Given the description of an element on the screen output the (x, y) to click on. 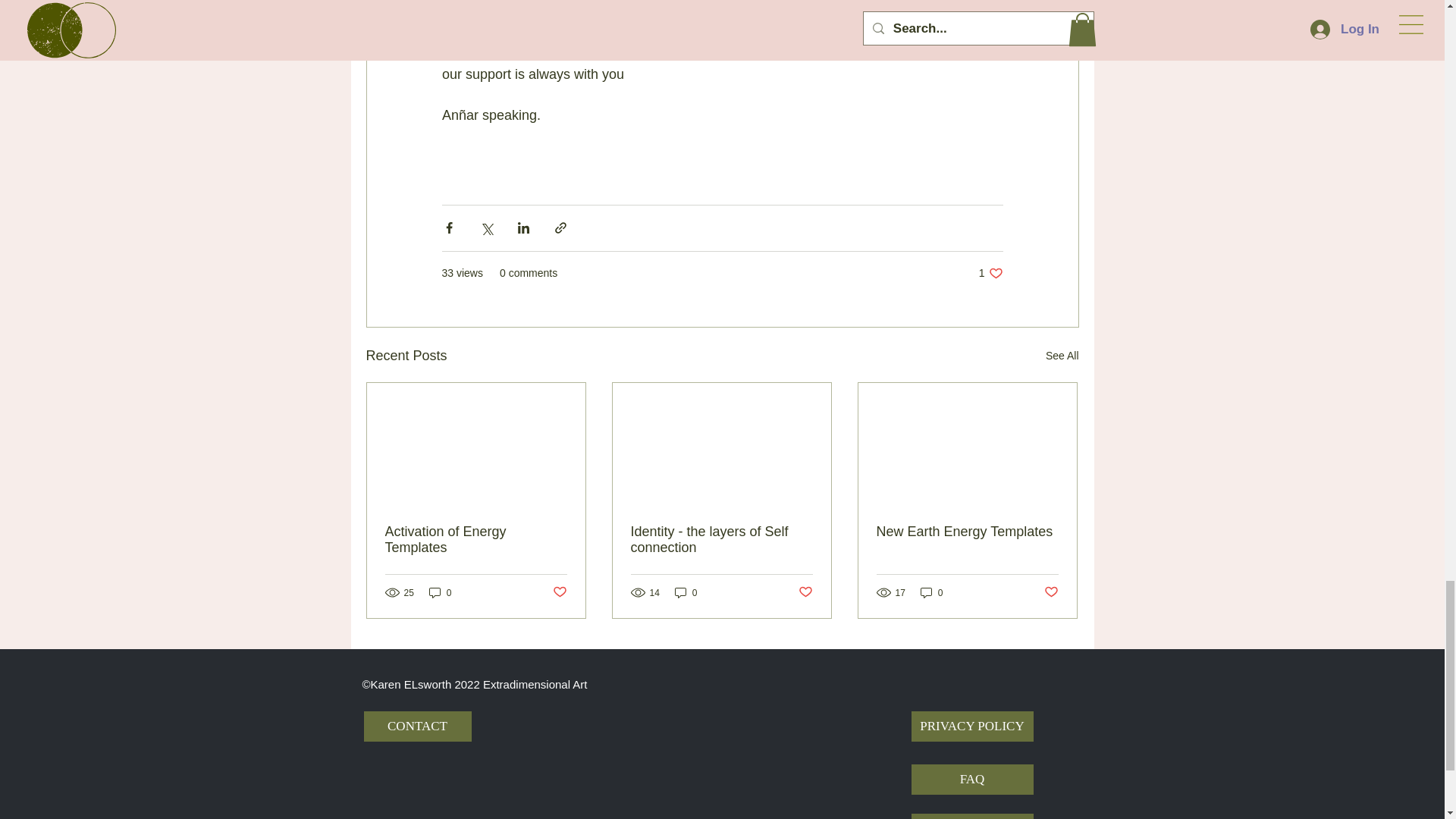
New Earth Energy Templates (967, 531)
FAQ (972, 779)
Identity - the layers of Self connection (721, 540)
See All (1061, 355)
Post not marked as liked (1050, 592)
0 (440, 592)
Activation of Energy Templates (476, 540)
0 (931, 592)
Post not marked as liked (558, 592)
PRIVACY POLICY (972, 726)
